Given the description of an element on the screen output the (x, y) to click on. 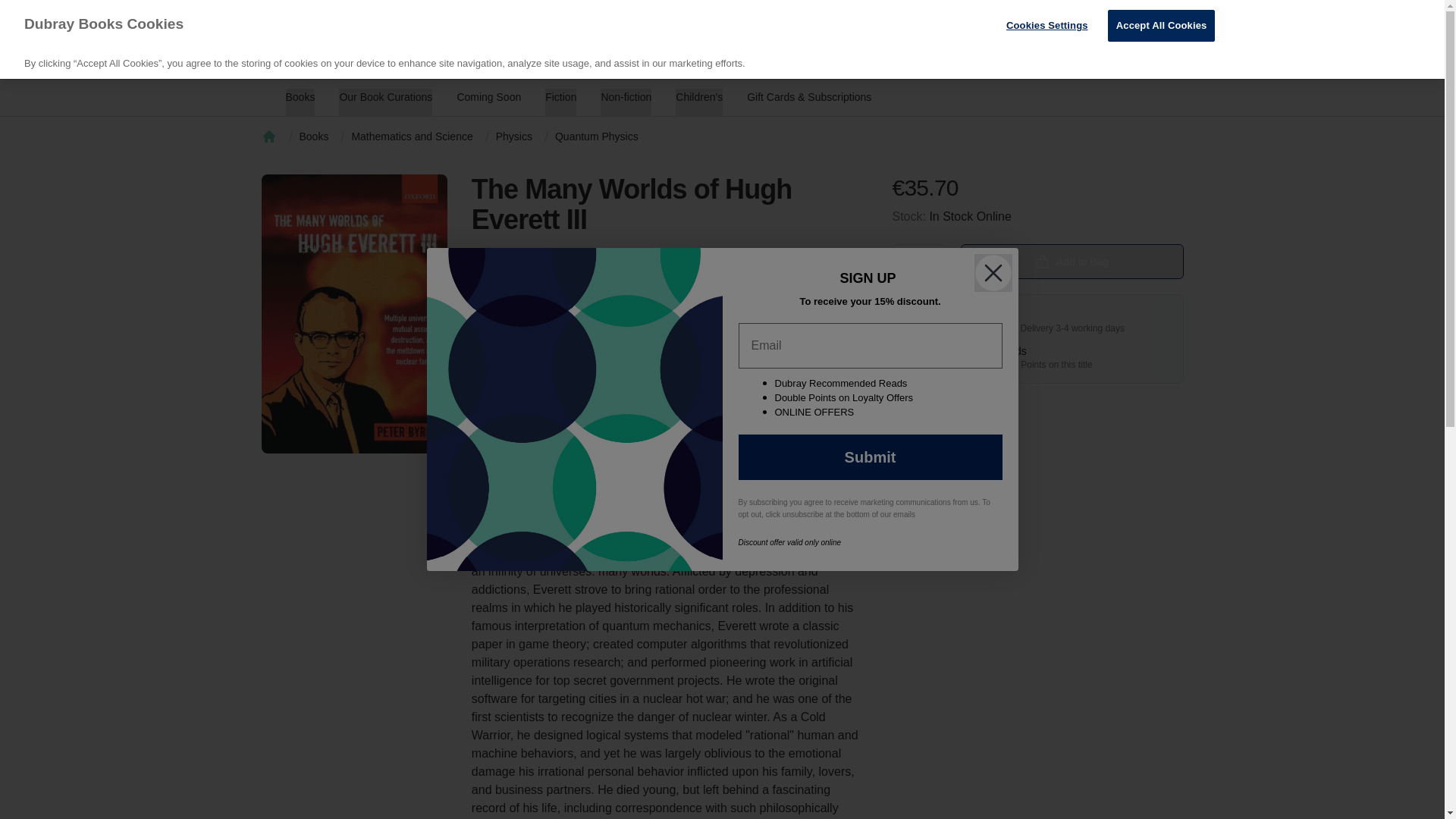
Loyalty (1013, 14)
Biography: General (605, 351)
Fiction (560, 102)
Store Locator (1163, 54)
Coming Soon (1150, 14)
Add to Bag (489, 101)
Home (1070, 261)
Children's (1098, 54)
Submit (268, 136)
Our Book Curations (698, 102)
Help (498, 54)
Specific Events And Topics (385, 102)
Books (1075, 14)
